Given the description of an element on the screen output the (x, y) to click on. 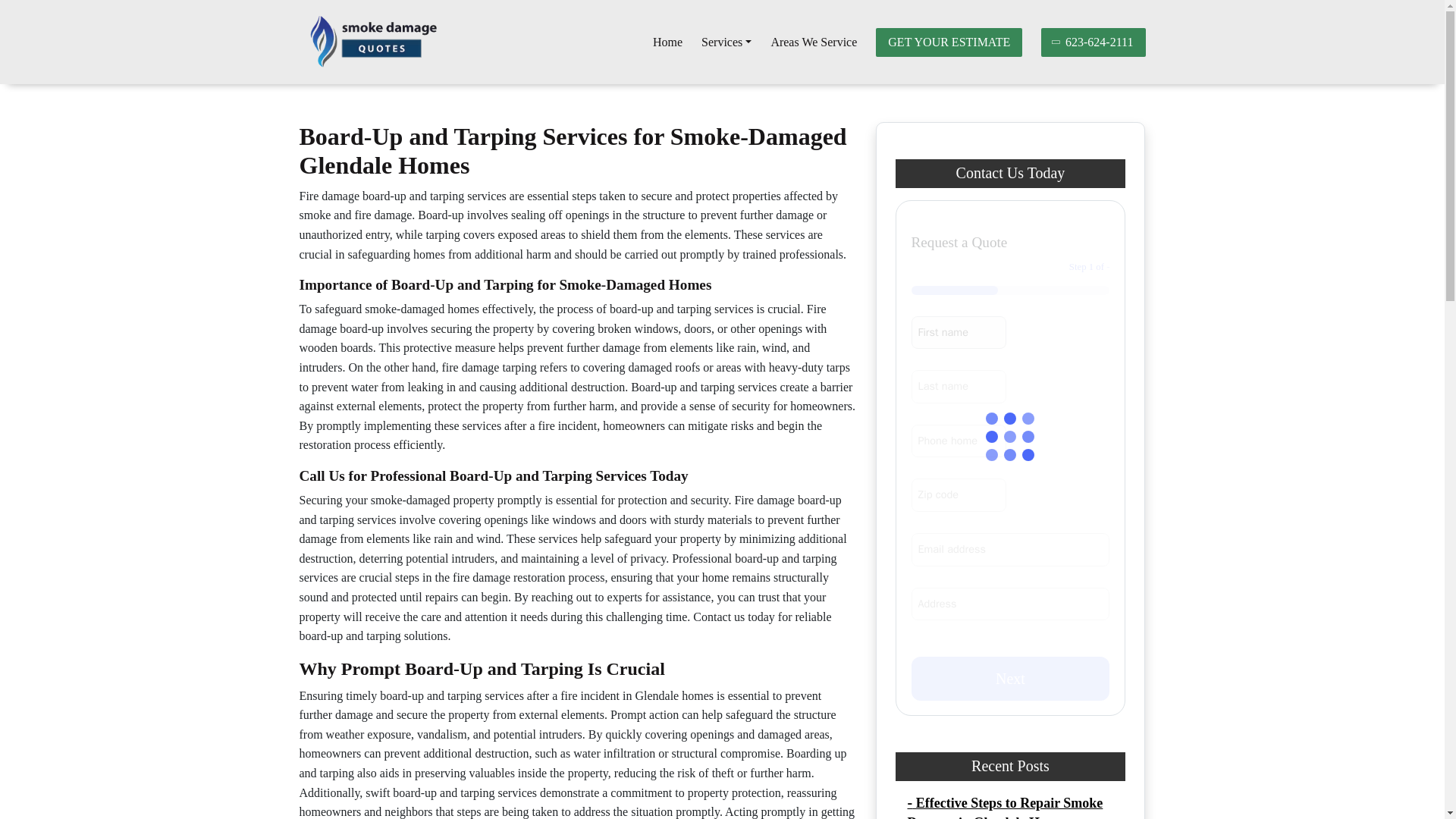
GET YOUR ESTIMATE (949, 41)
Services (726, 42)
Areas We Service (813, 42)
623-624-2111 (1092, 41)
Home (667, 42)
Services (726, 42)
Areas We Service (813, 42)
- Effective Steps to Repair Smoke Damage in Glendale Homes (1004, 807)
Home (667, 42)
Next (1010, 678)
